Given the description of an element on the screen output the (x, y) to click on. 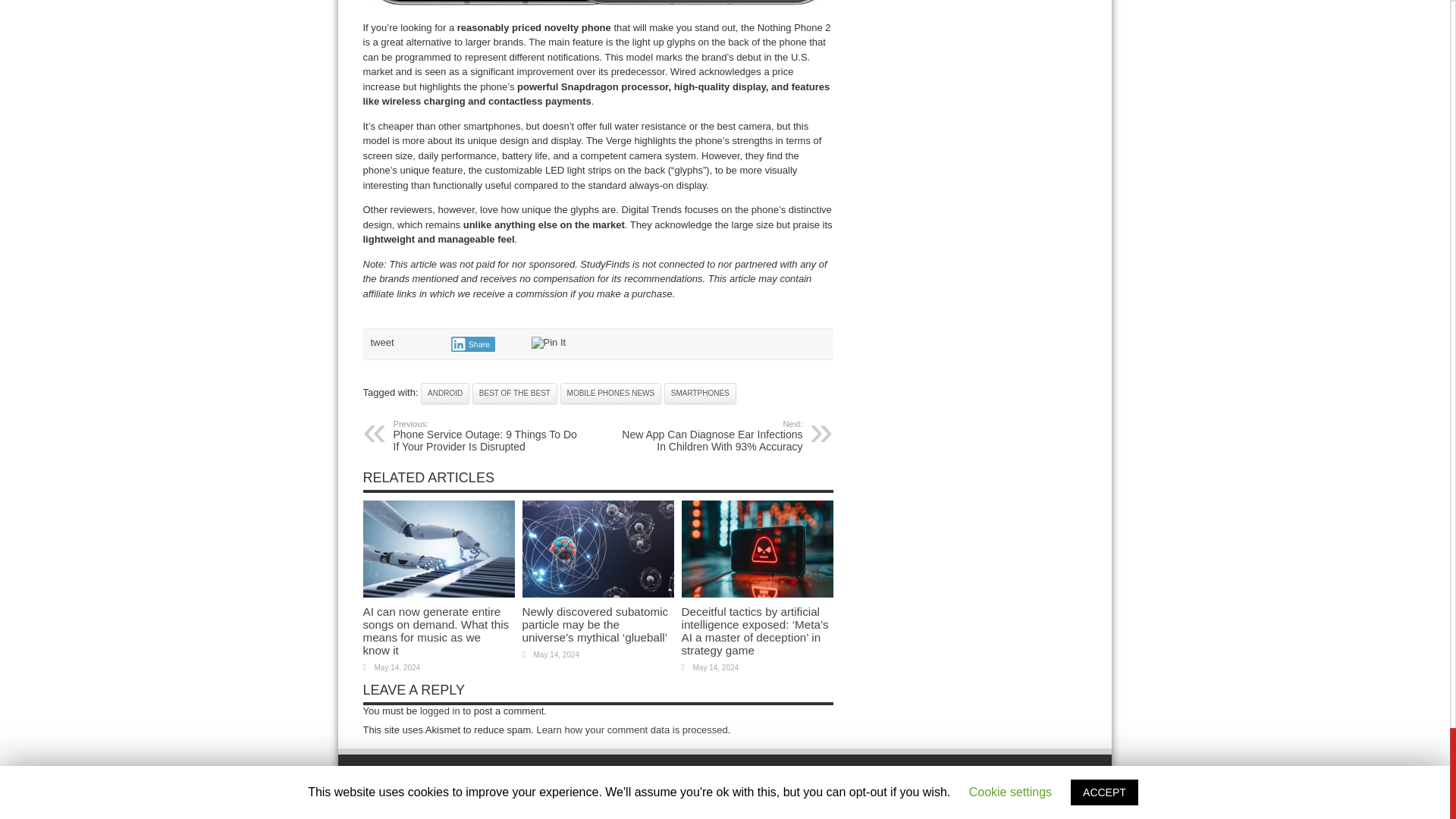
Learn how your comment data is processed (632, 729)
MOBILE PHONES NEWS (611, 393)
logged in (440, 710)
Share (472, 344)
ANDROID (444, 393)
SMARTPHONES (699, 393)
Pin It (548, 342)
tweet (381, 342)
BEST OF THE BEST (514, 393)
